Given the description of an element on the screen output the (x, y) to click on. 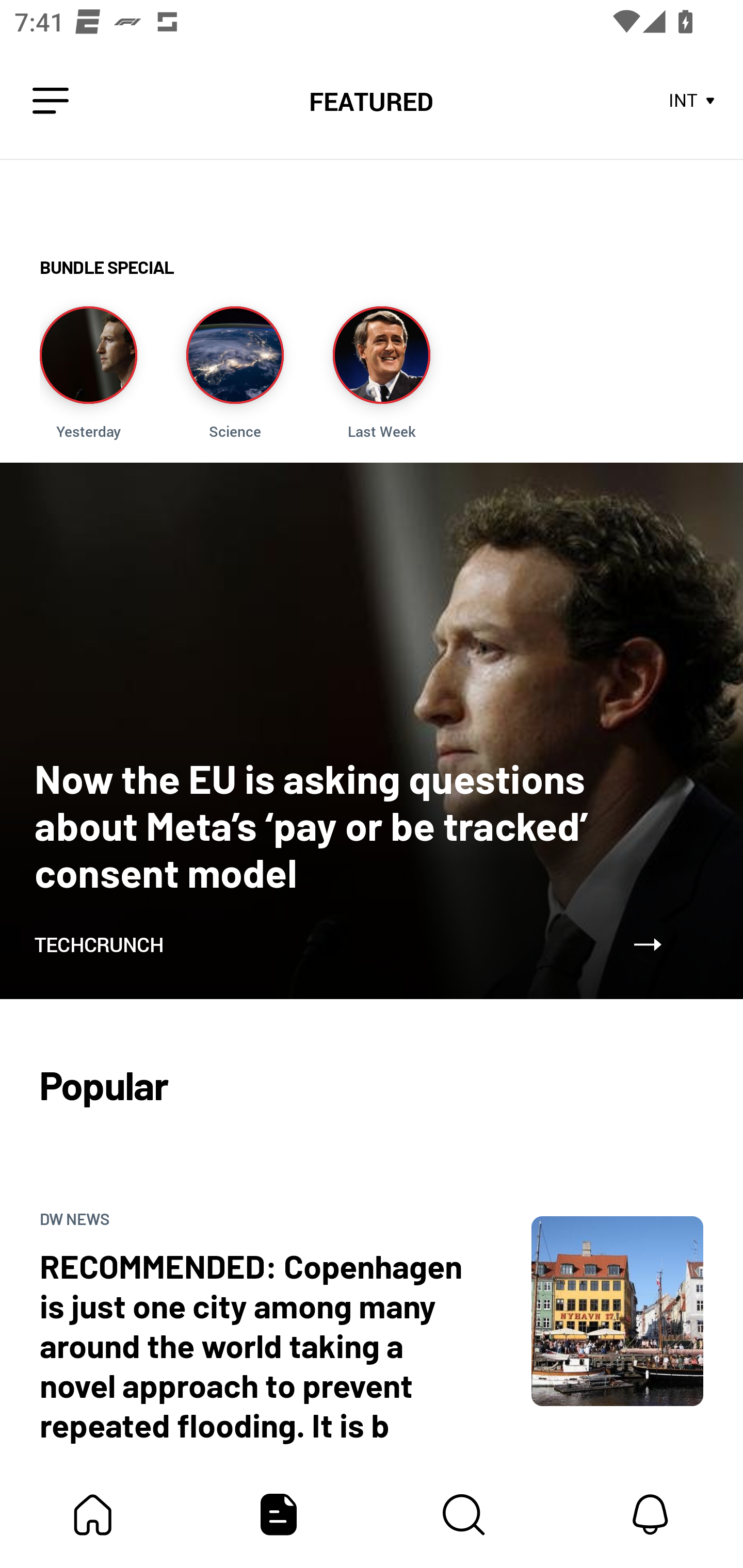
Leading Icon (50, 101)
INT Store Area (692, 101)
Story Image Yesterday (88, 372)
Story Image Science (234, 372)
Story Image Last Week (381, 372)
My Bundle (92, 1514)
Content Store (464, 1514)
Notifications (650, 1514)
